Given the description of an element on the screen output the (x, y) to click on. 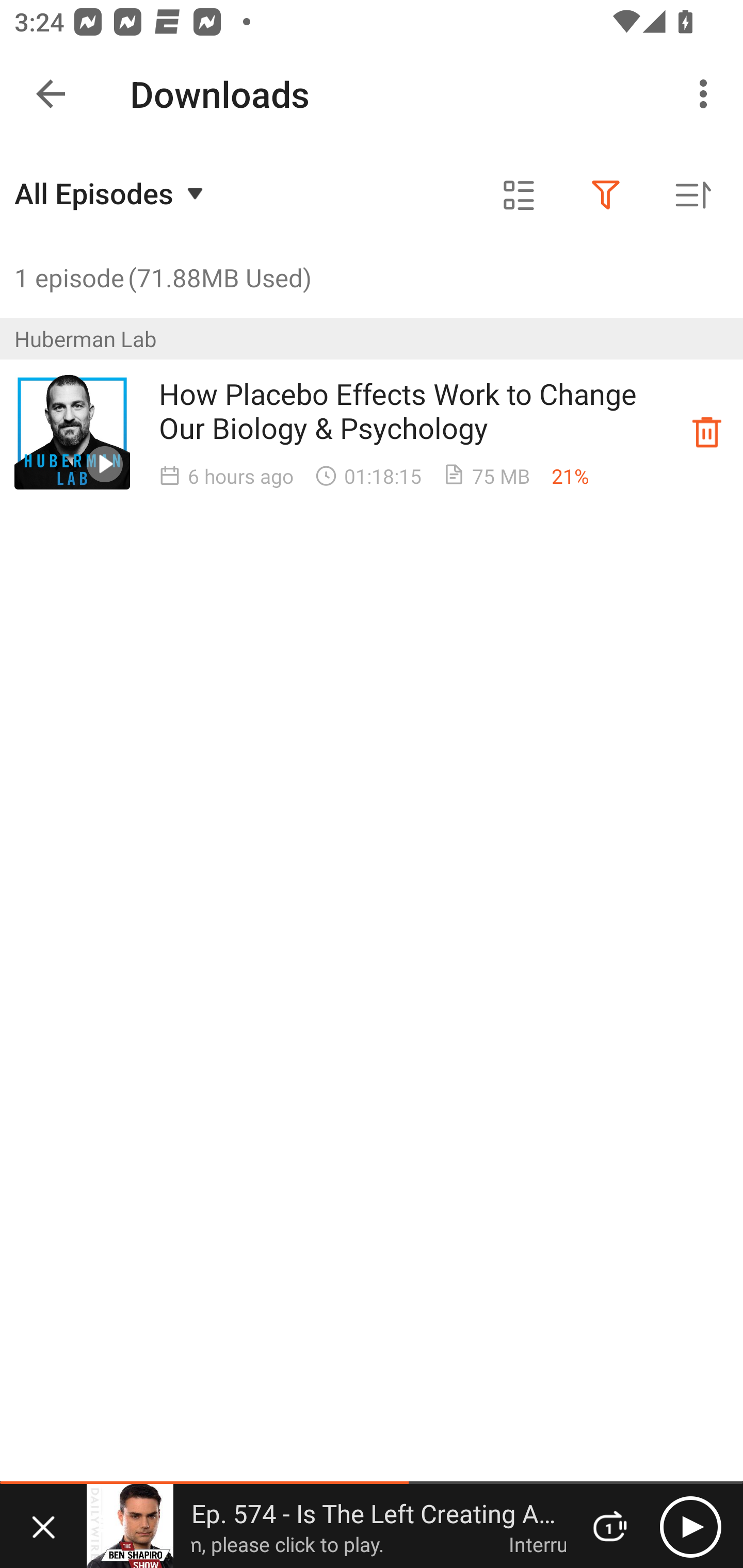
5.0 Downloading 4 episodes VIEW (371, 88)
Navigate up (50, 93)
More options (706, 93)
All Episodes (111, 192)
 (518, 195)
 (605, 195)
 Sorted by oldest first (692, 195)
Downloaded (706, 431)
Play (690, 1526)
